Given the description of an element on the screen output the (x, y) to click on. 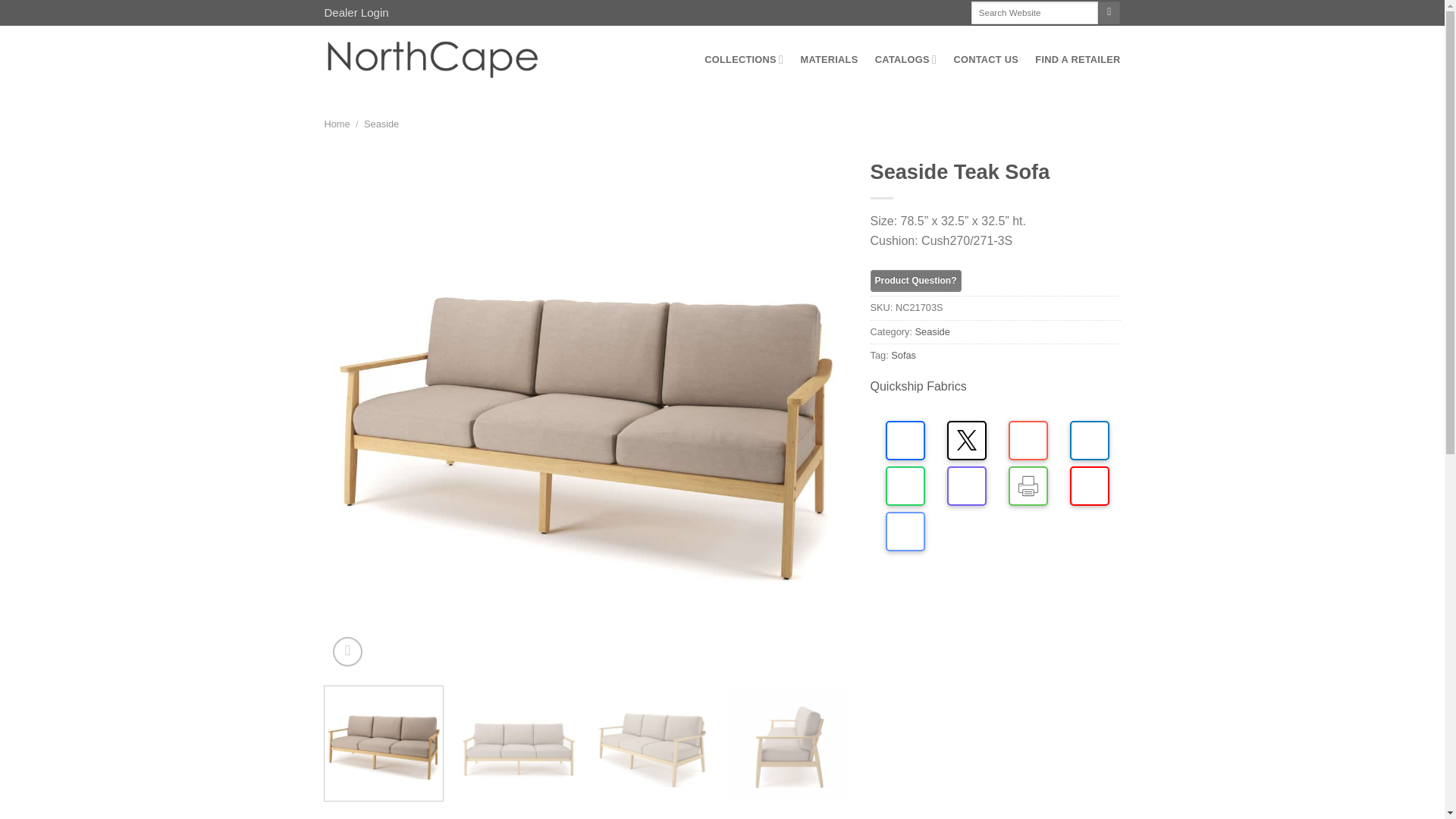
CATALOGS (905, 59)
Share on Viber (967, 485)
Search (1108, 12)
Zoom (347, 651)
Download PDF (1089, 485)
Share on Facebook (904, 440)
Print product (1028, 485)
Share on LinkedIn (1089, 440)
Email to a friend (904, 531)
Dealer Login (356, 12)
